Given the description of an element on the screen output the (x, y) to click on. 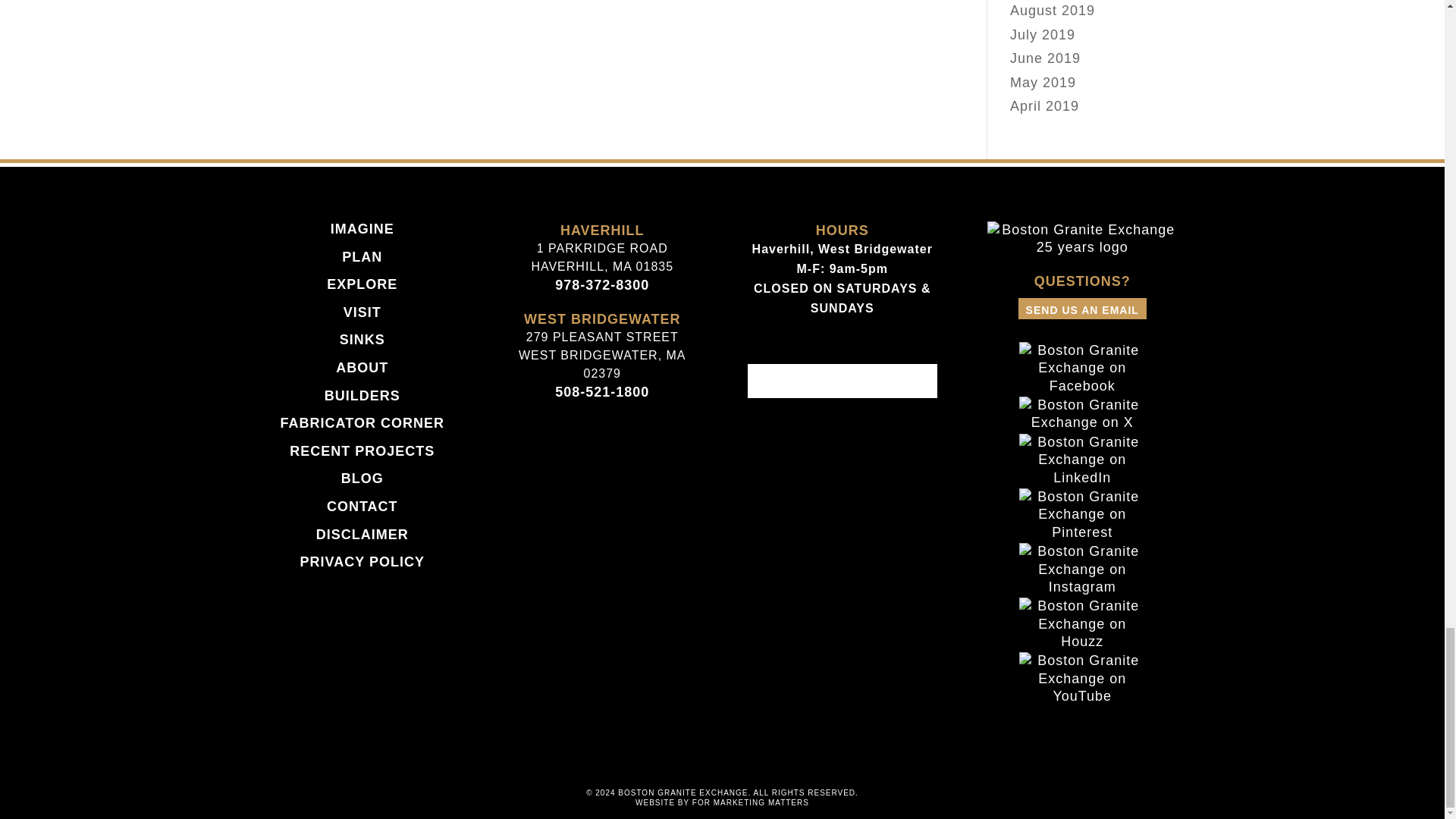
Boston Granite Exchange on Houzz (1082, 641)
Boston Granite Exchange on Instagram (1082, 586)
Boston Granite Exchange on Pinterest (1082, 531)
Boston Granite Exchange on Twitter (1082, 421)
Boston Granite Exchange on YouTube (1082, 695)
Boston Granite Exchange on Facebook (1082, 385)
Boston Granite Exchange on LinkedIn (1082, 477)
